Given the description of an element on the screen output the (x, y) to click on. 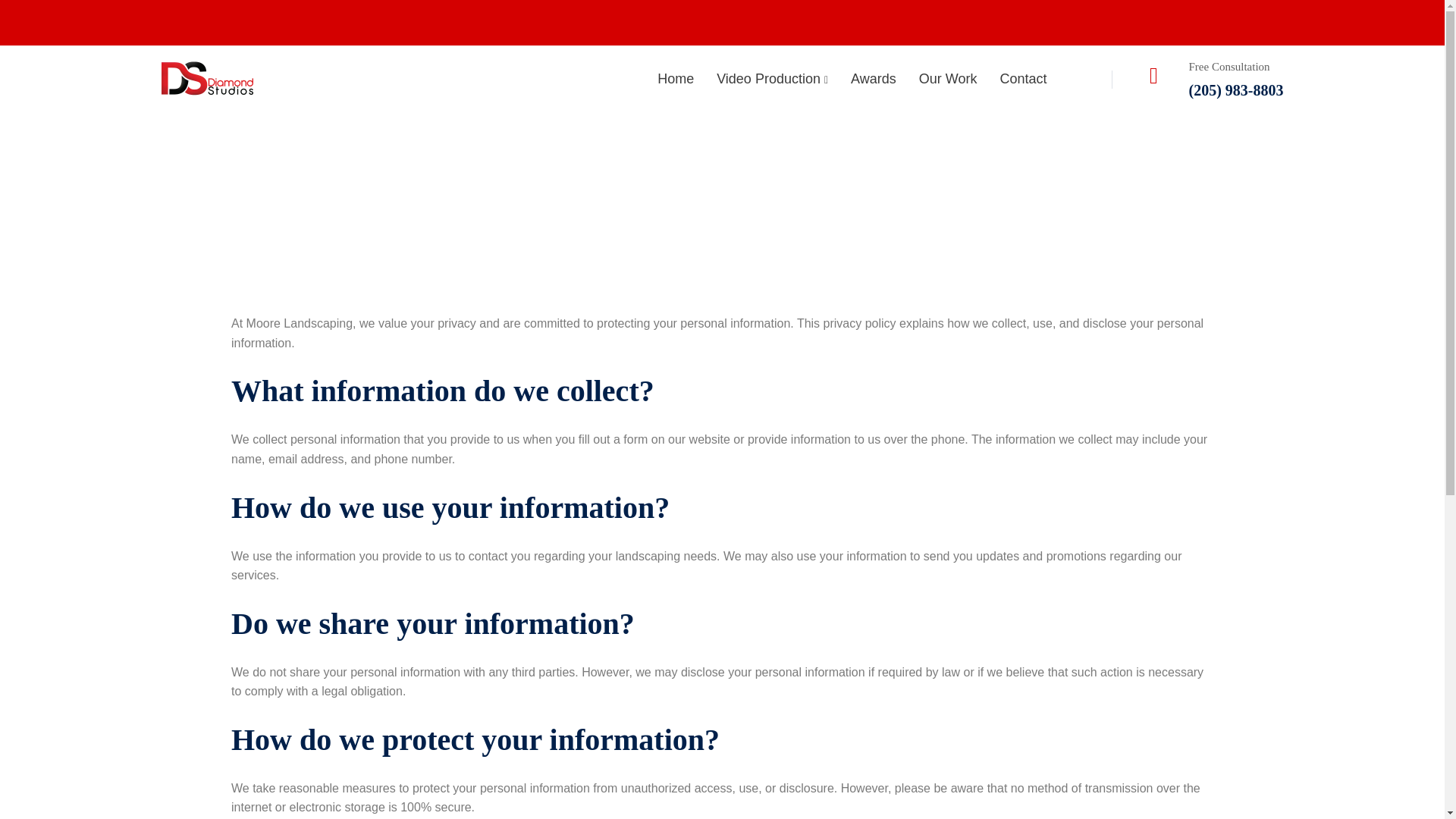
Video Production (772, 79)
Our Work (947, 79)
Awards (873, 79)
Contact (1023, 79)
